Given the description of an element on the screen output the (x, y) to click on. 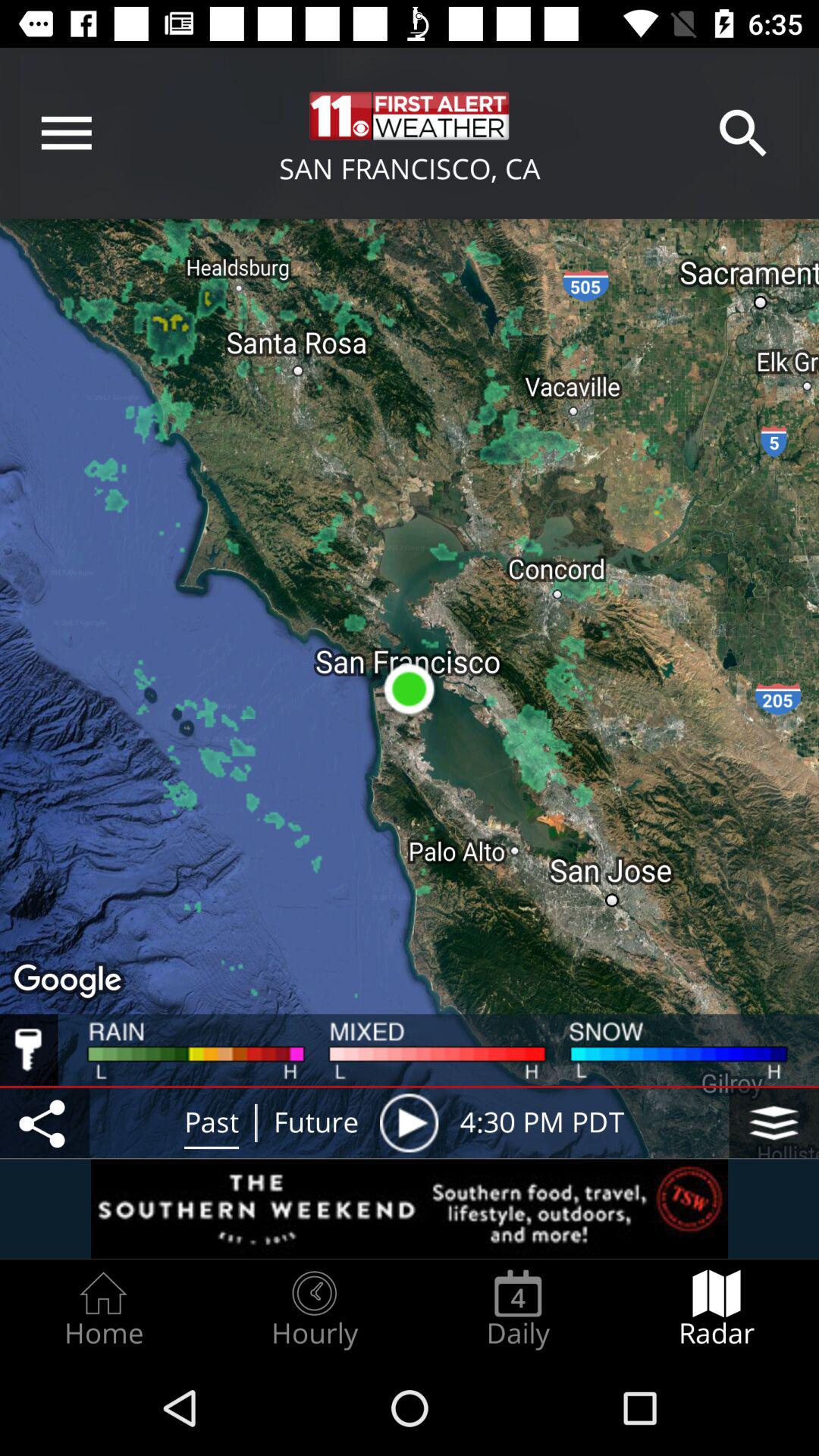
third option at bottom of page (518, 1309)
select play button behind the future  icon (409, 1122)
select the text which is beside to search option (409, 114)
select the menu bar icon which is in the left topmost side (66, 132)
